Given the description of an element on the screen output the (x, y) to click on. 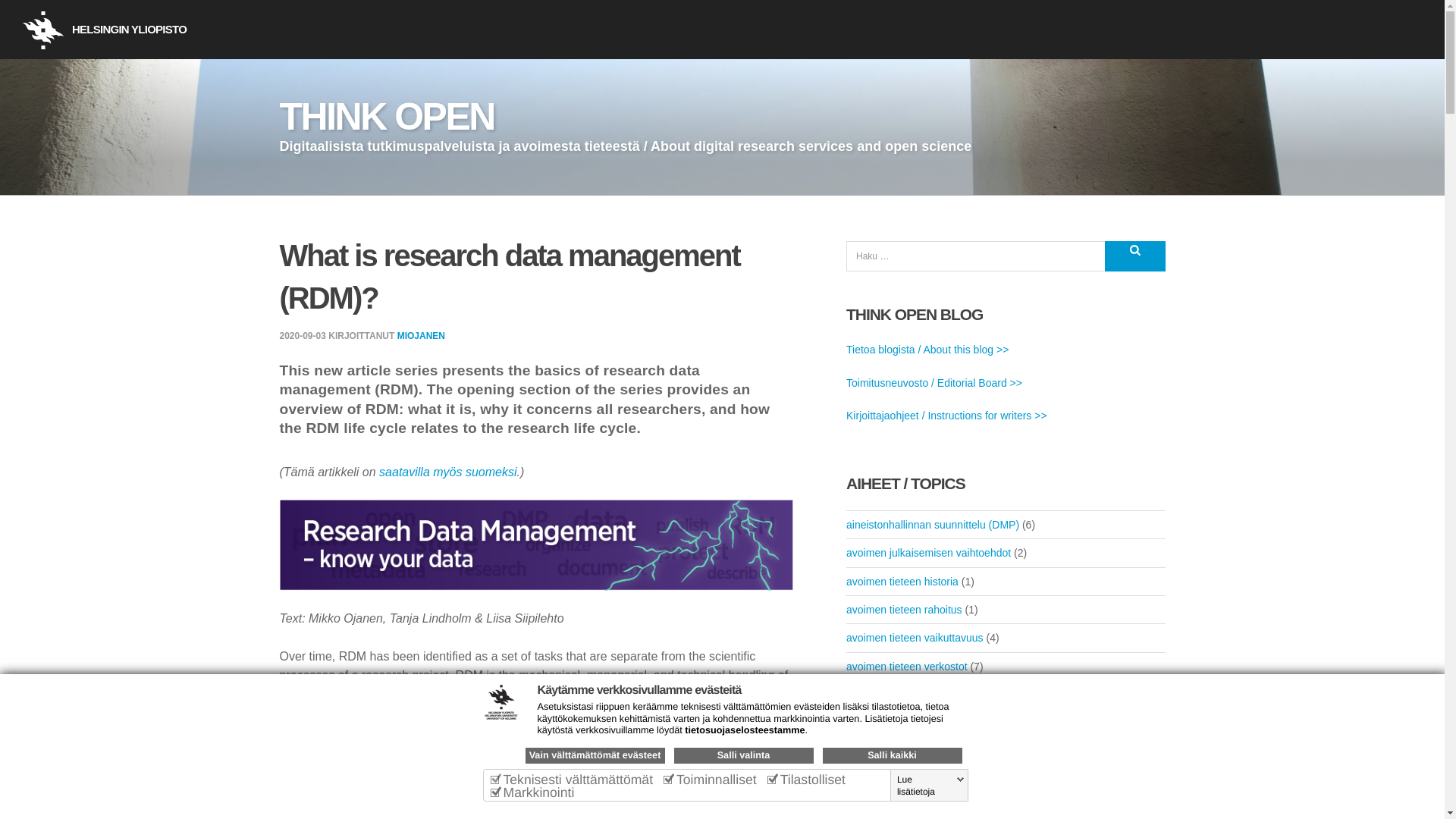
Salli valinta (742, 755)
tietosuojaselosteestamme (744, 729)
Salli kaikki (891, 755)
